Given the description of an element on the screen output the (x, y) to click on. 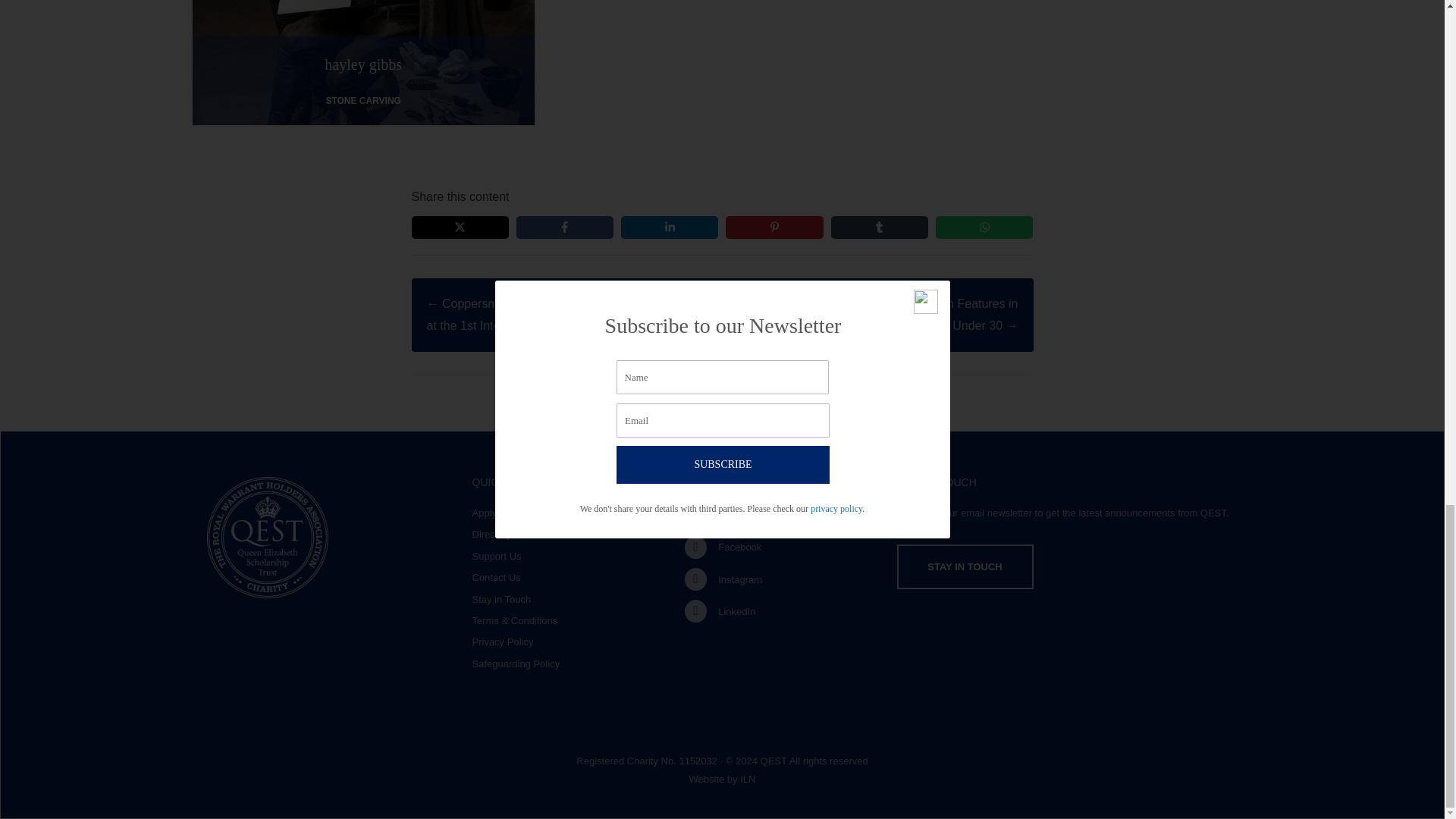
qest-white (266, 537)
Hayley Gibbs (363, 113)
